Given the description of an element on the screen output the (x, y) to click on. 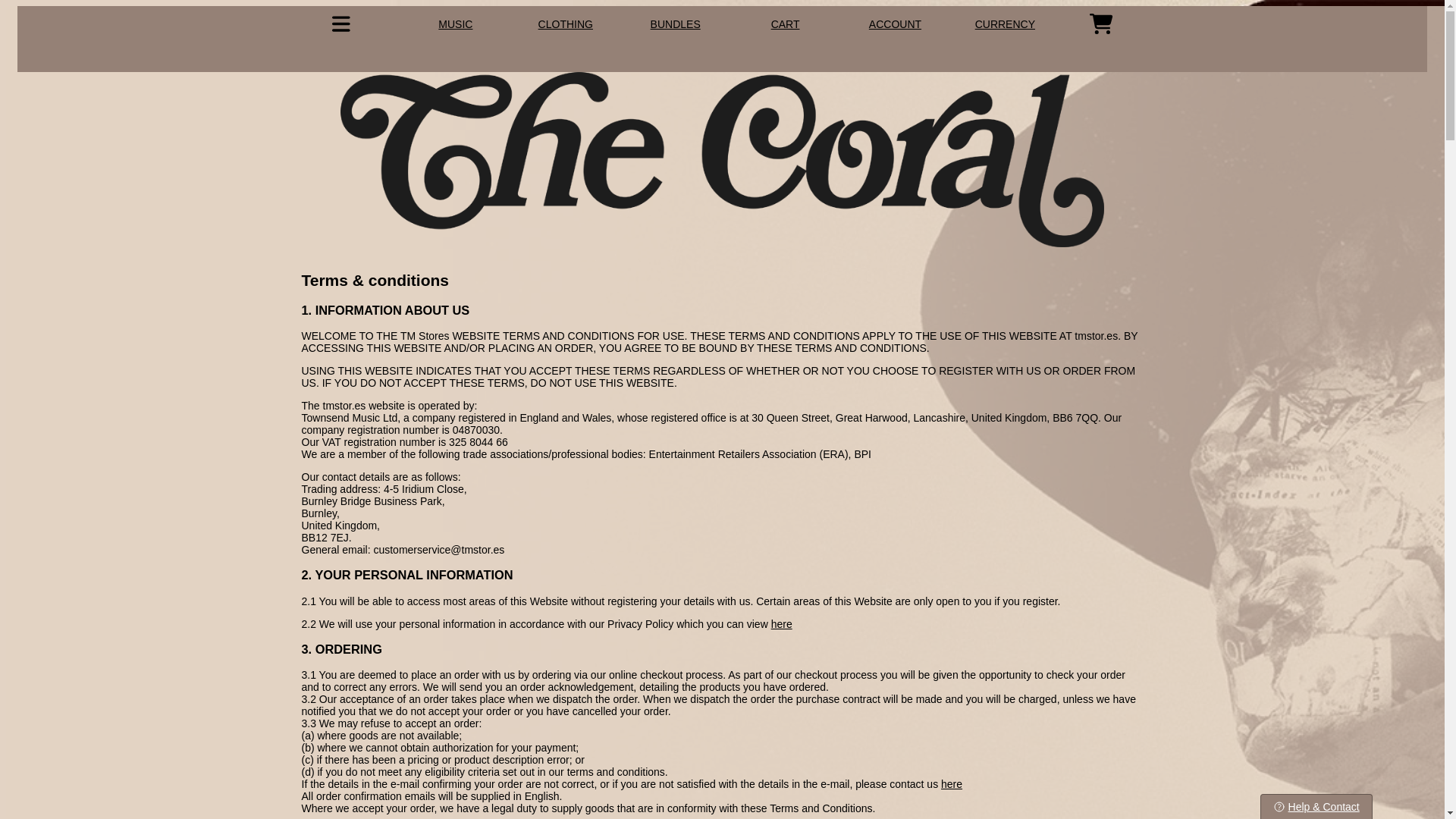
MUSIC (454, 24)
CART (785, 24)
CLOTHING (565, 24)
ACCOUNT (895, 24)
BUNDLES (675, 24)
CURRENCY (1005, 24)
